Given the description of an element on the screen output the (x, y) to click on. 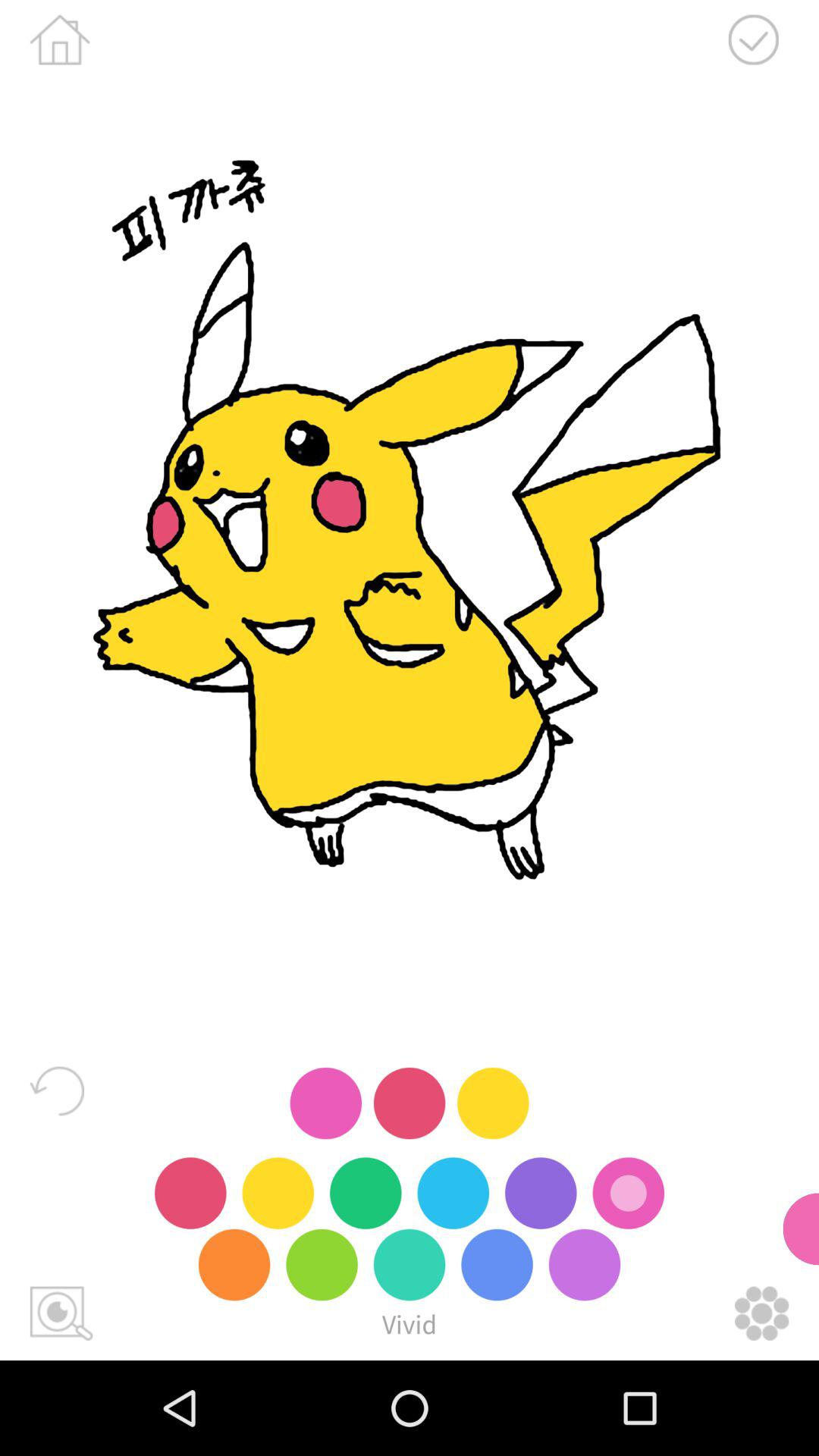
toggle the check mark in order to continue (753, 39)
